Given the description of an element on the screen output the (x, y) to click on. 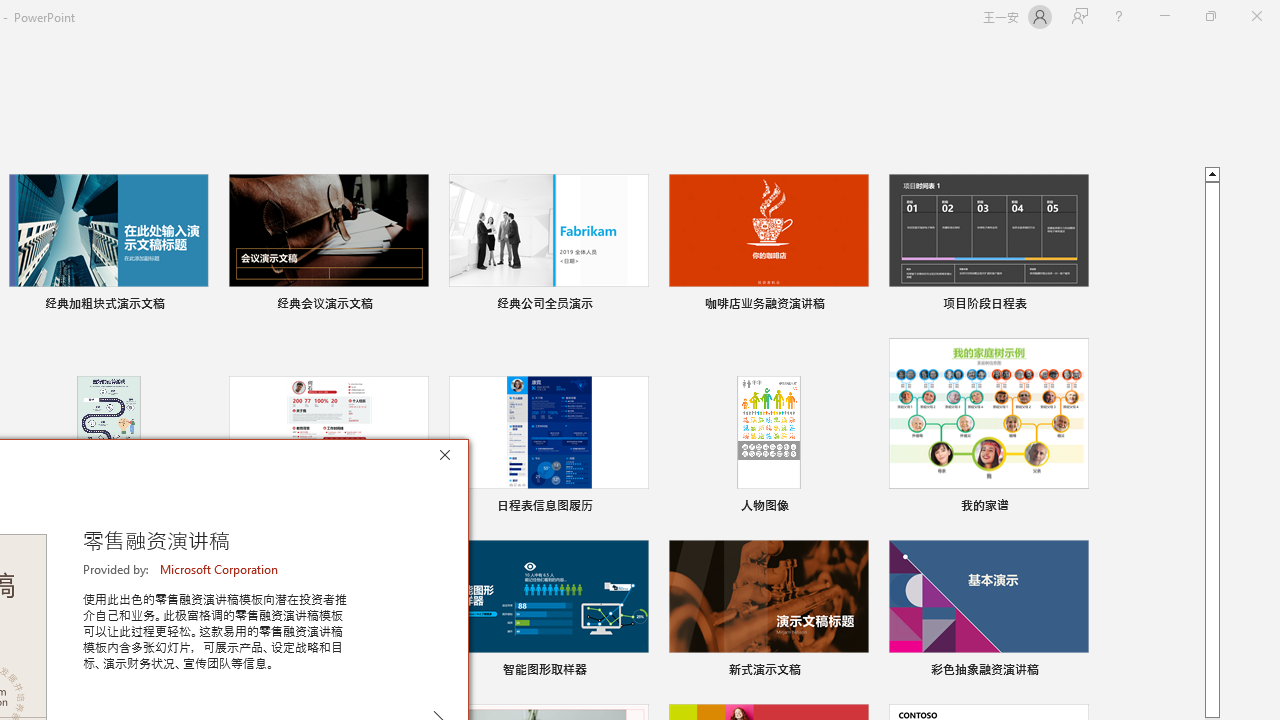
Pin to list (1075, 671)
Microsoft Corporation (220, 569)
